Given the description of an element on the screen output the (x, y) to click on. 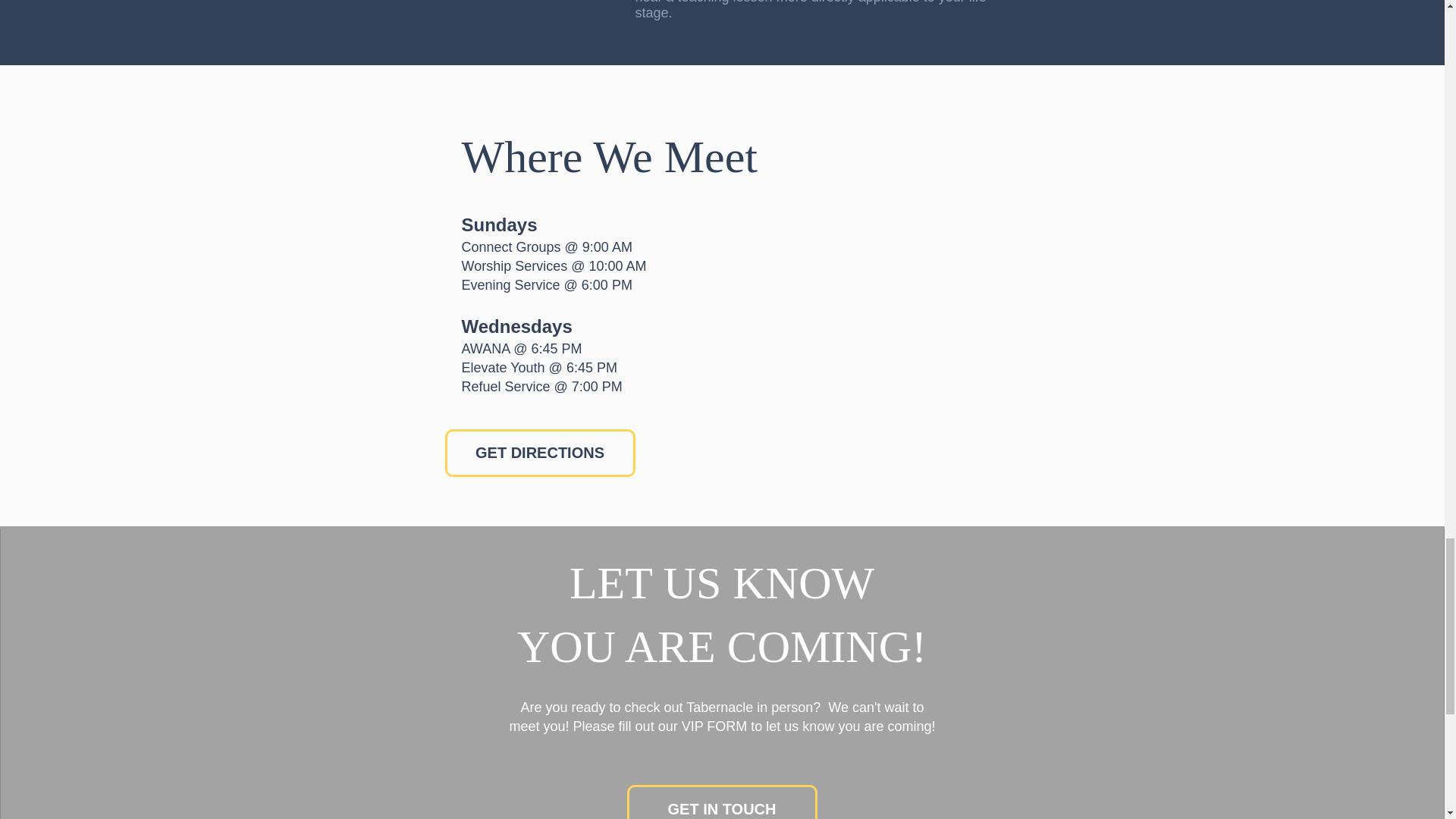
GET DIRECTIONS (539, 452)
GET IN TOUCH (721, 801)
